Given the description of an element on the screen output the (x, y) to click on. 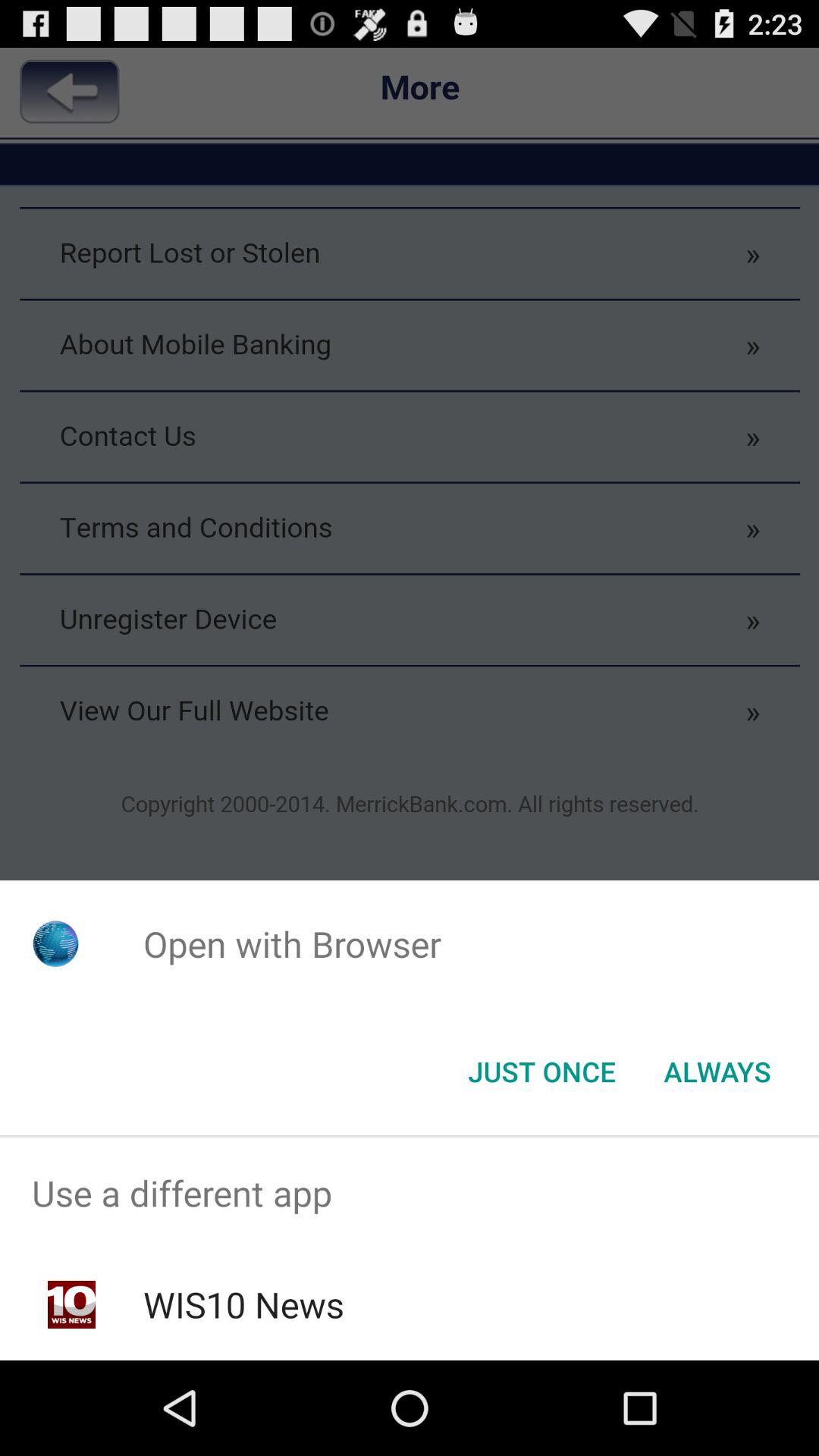
press the button to the right of the just once item (717, 1071)
